Given the description of an element on the screen output the (x, y) to click on. 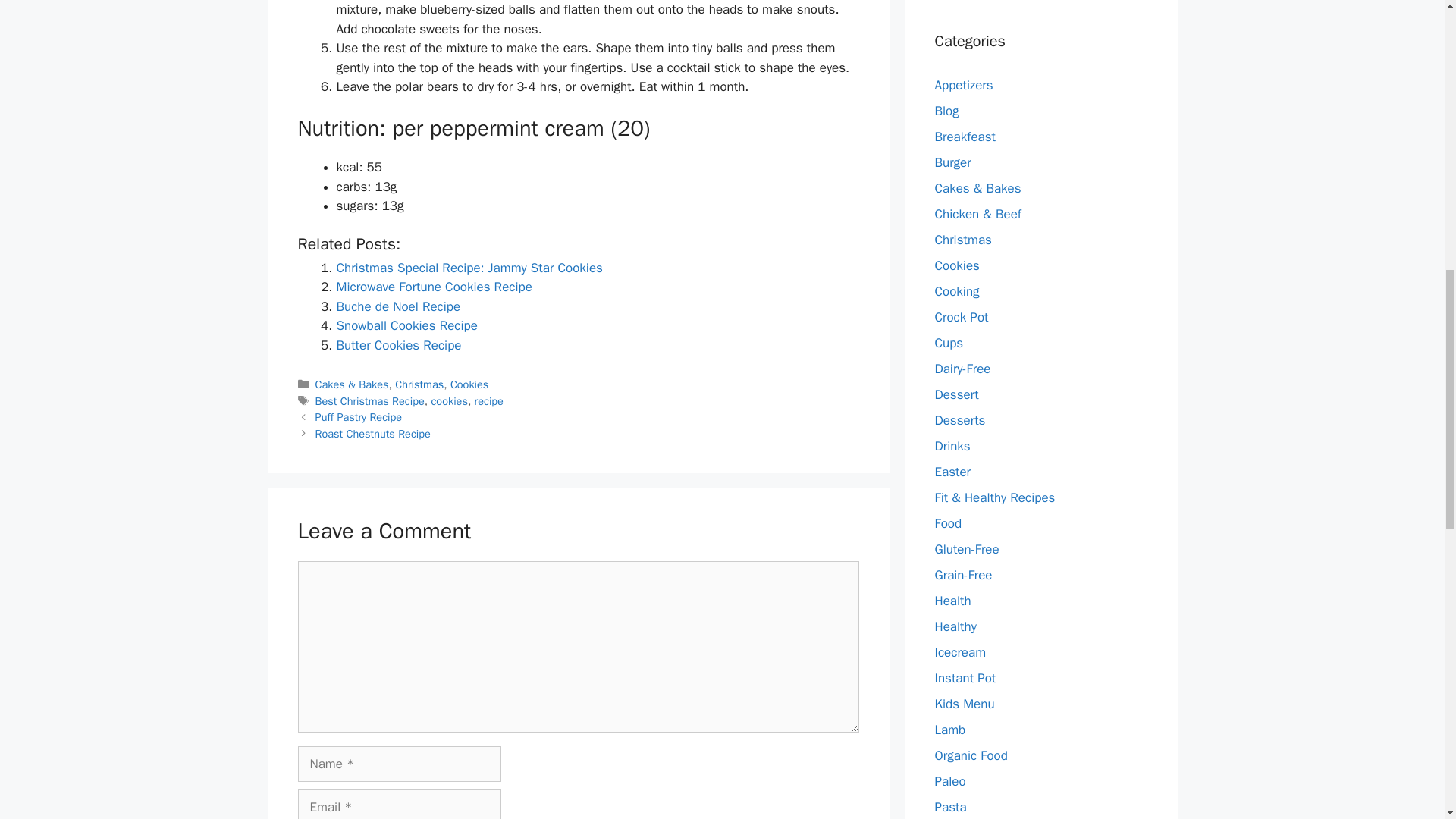
Roast Chestnuts Recipe (372, 433)
Butter Cookies Recipe (398, 344)
Best Christmas Recipe (370, 400)
Snowball Cookies Recipe (406, 325)
cookies (448, 400)
Buche de Noel Recipe (398, 306)
Christmas Special Recipe: Jammy Star Cookies (469, 268)
Buche de Noel Recipe (398, 306)
Cookies (468, 384)
Puff Pastry Recipe (359, 417)
